Given the description of an element on the screen output the (x, y) to click on. 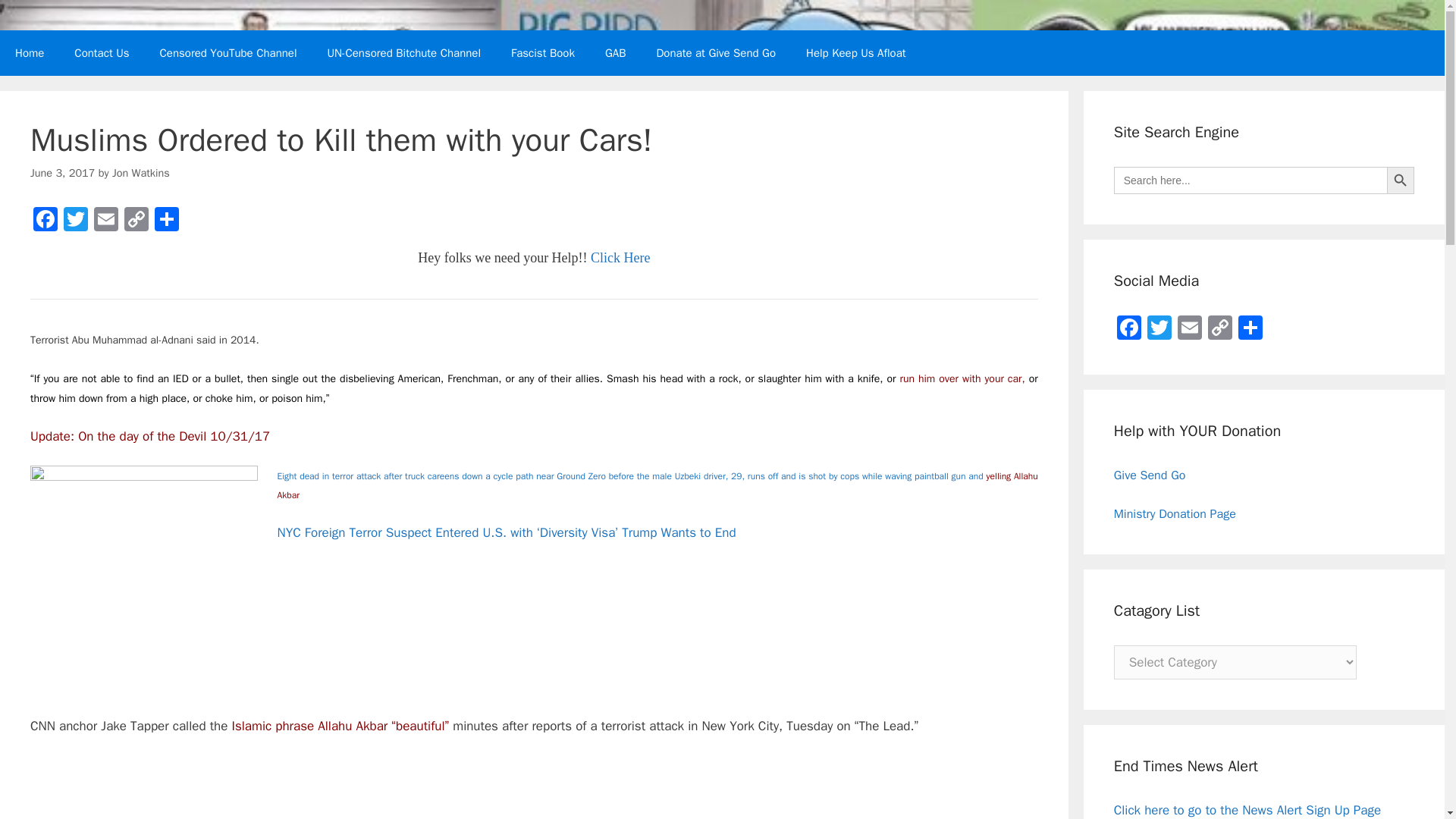
Help Keep Us Afloat (855, 53)
Email (105, 221)
Facebook (45, 221)
Home (29, 53)
Censored YouTube Channel (228, 53)
Copy Link (135, 221)
UN-Censored Bitchute Channel (404, 53)
Fascist Book (542, 53)
Facebook (45, 221)
